Given the description of an element on the screen output the (x, y) to click on. 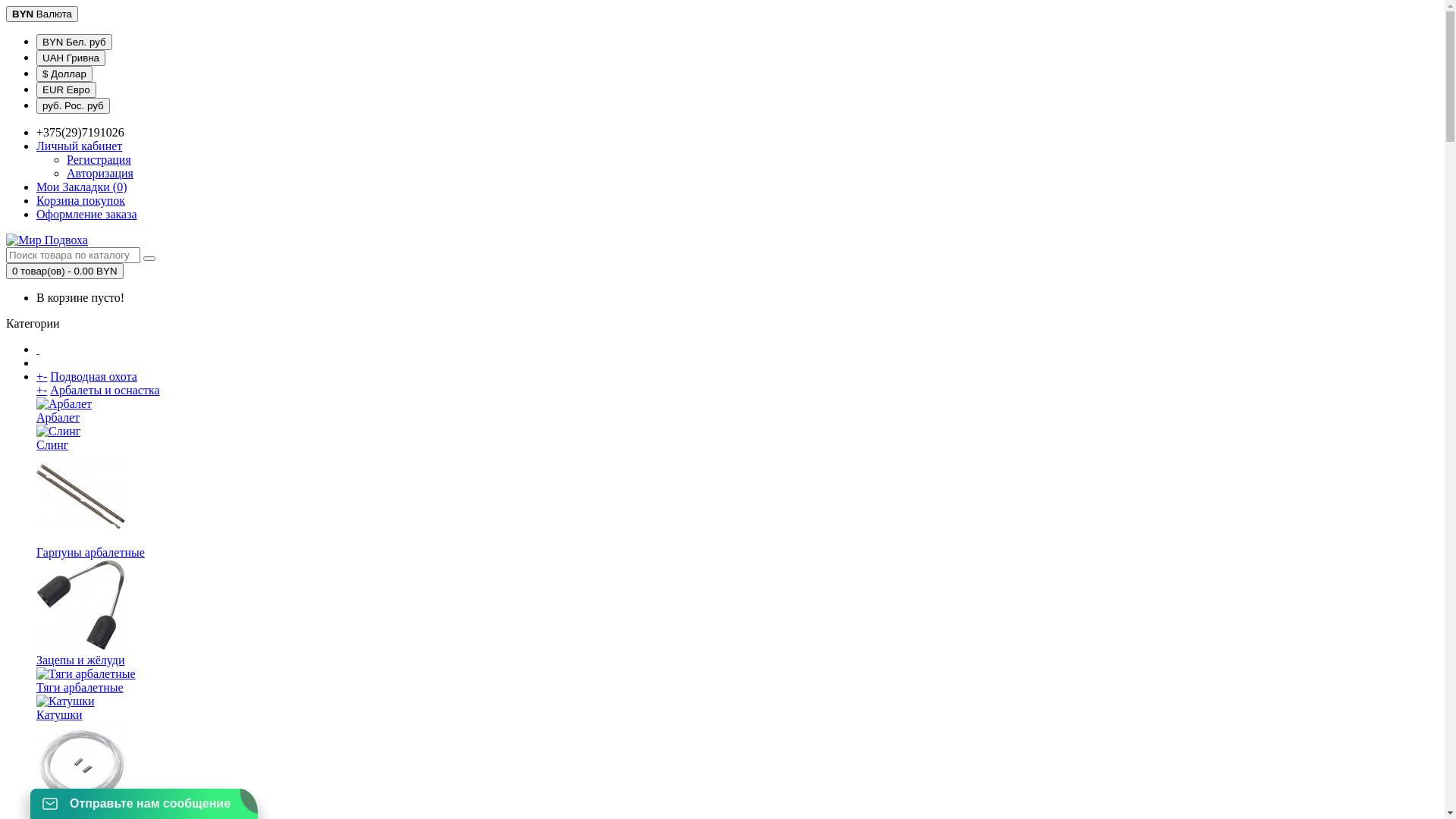
+- Element type: text (41, 389)
  Element type: text (37, 348)
+- Element type: text (41, 376)
